Given the description of an element on the screen output the (x, y) to click on. 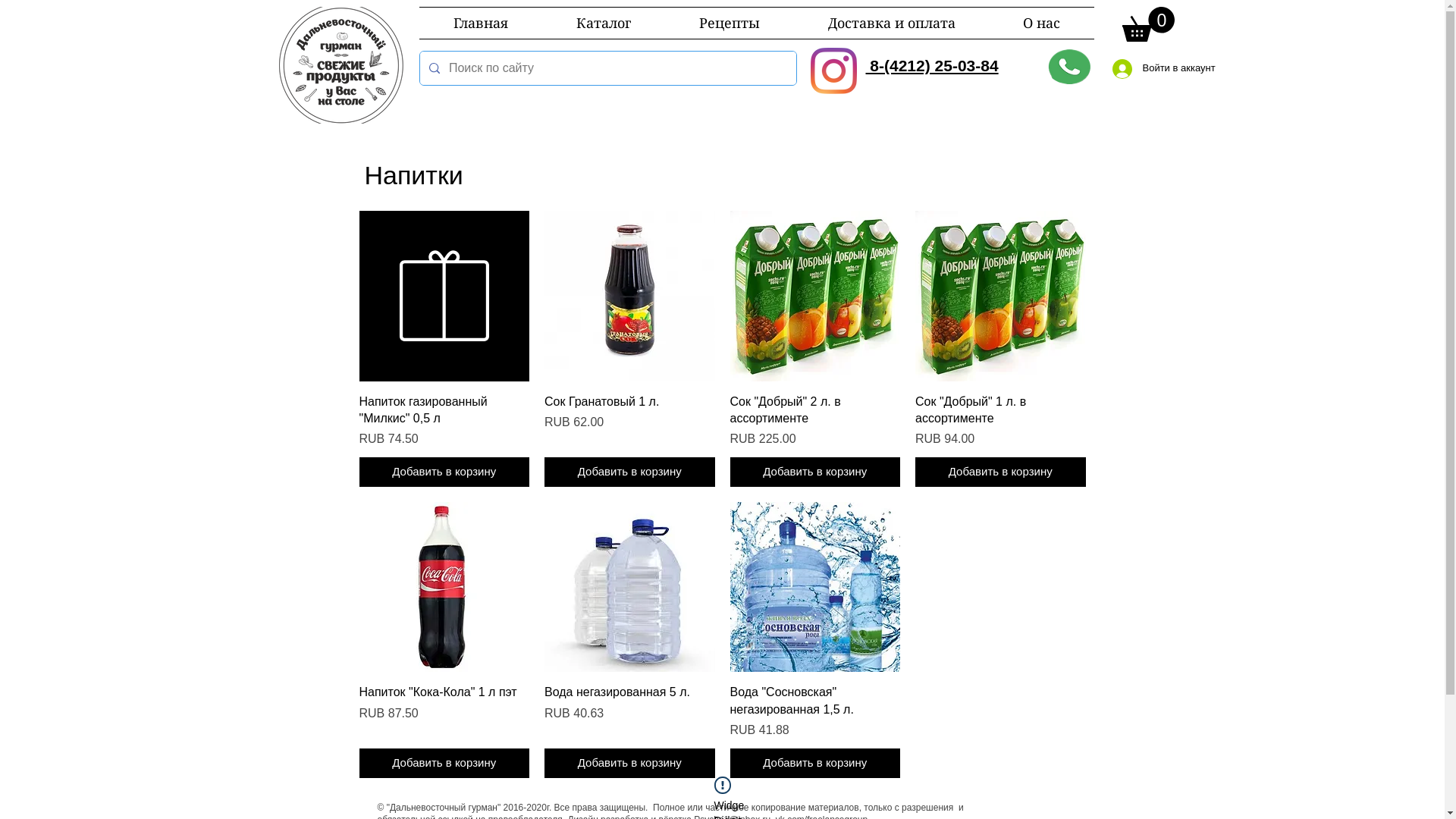
0 Element type: text (1148, 23)
 8-(4212) 25-03-84 Element type: text (932, 65)
